Given the description of an element on the screen output the (x, y) to click on. 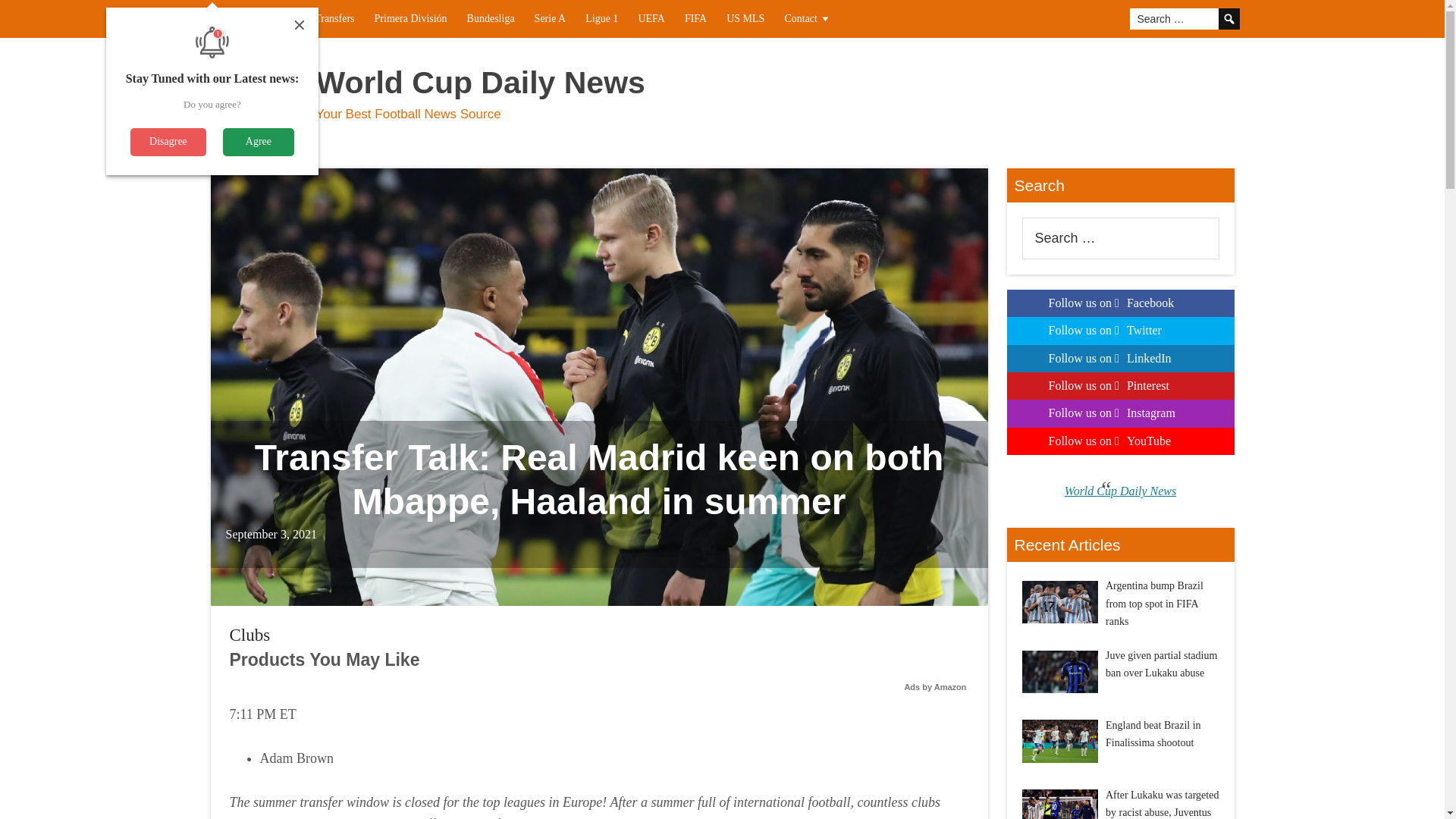
Clubs (248, 634)
Clubs (275, 18)
